Given the description of an element on the screen output the (x, y) to click on. 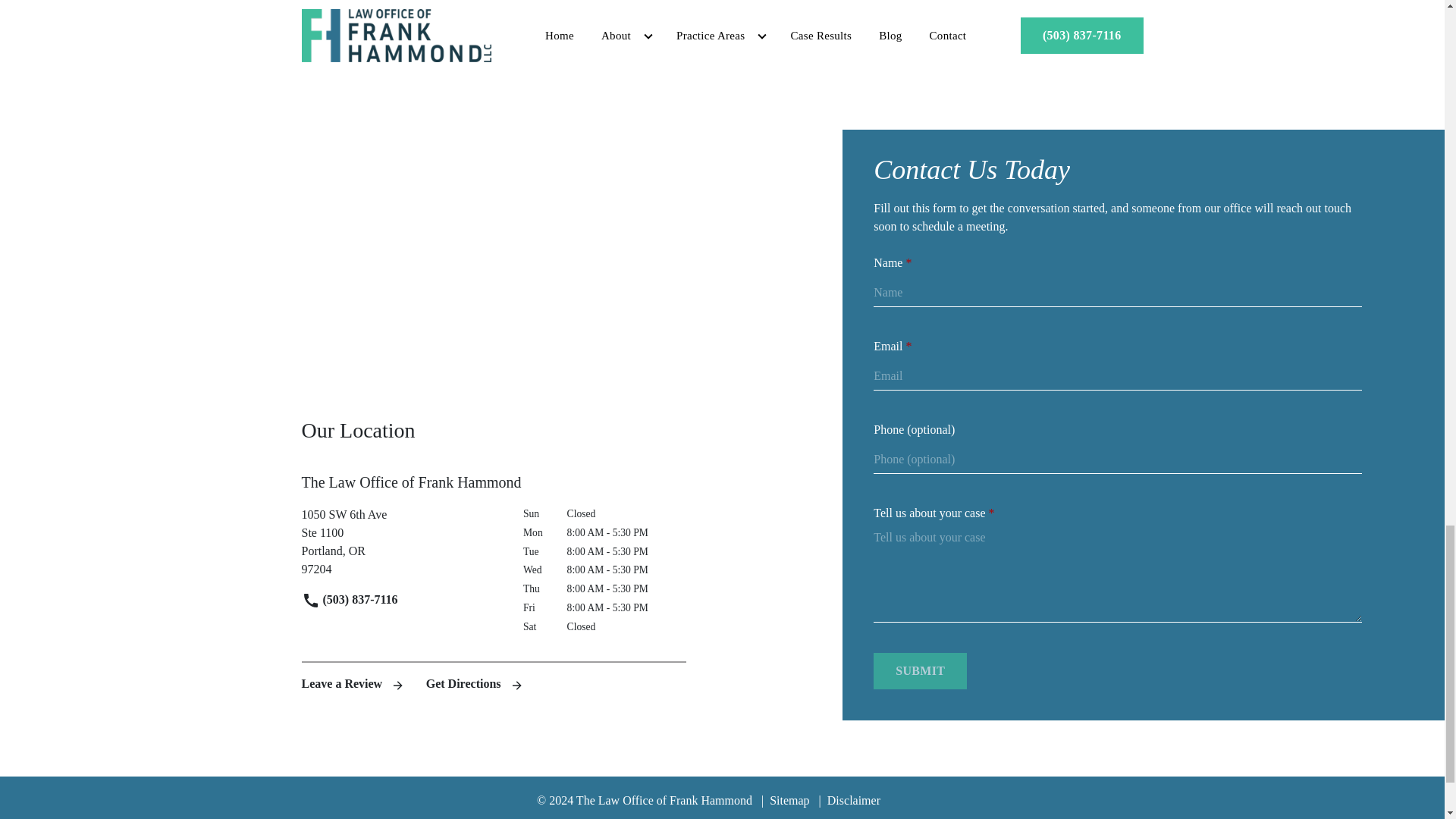
SUBMIT (919, 670)
email us (919, 29)
Leave a Review (354, 683)
